Given the description of an element on the screen output the (x, y) to click on. 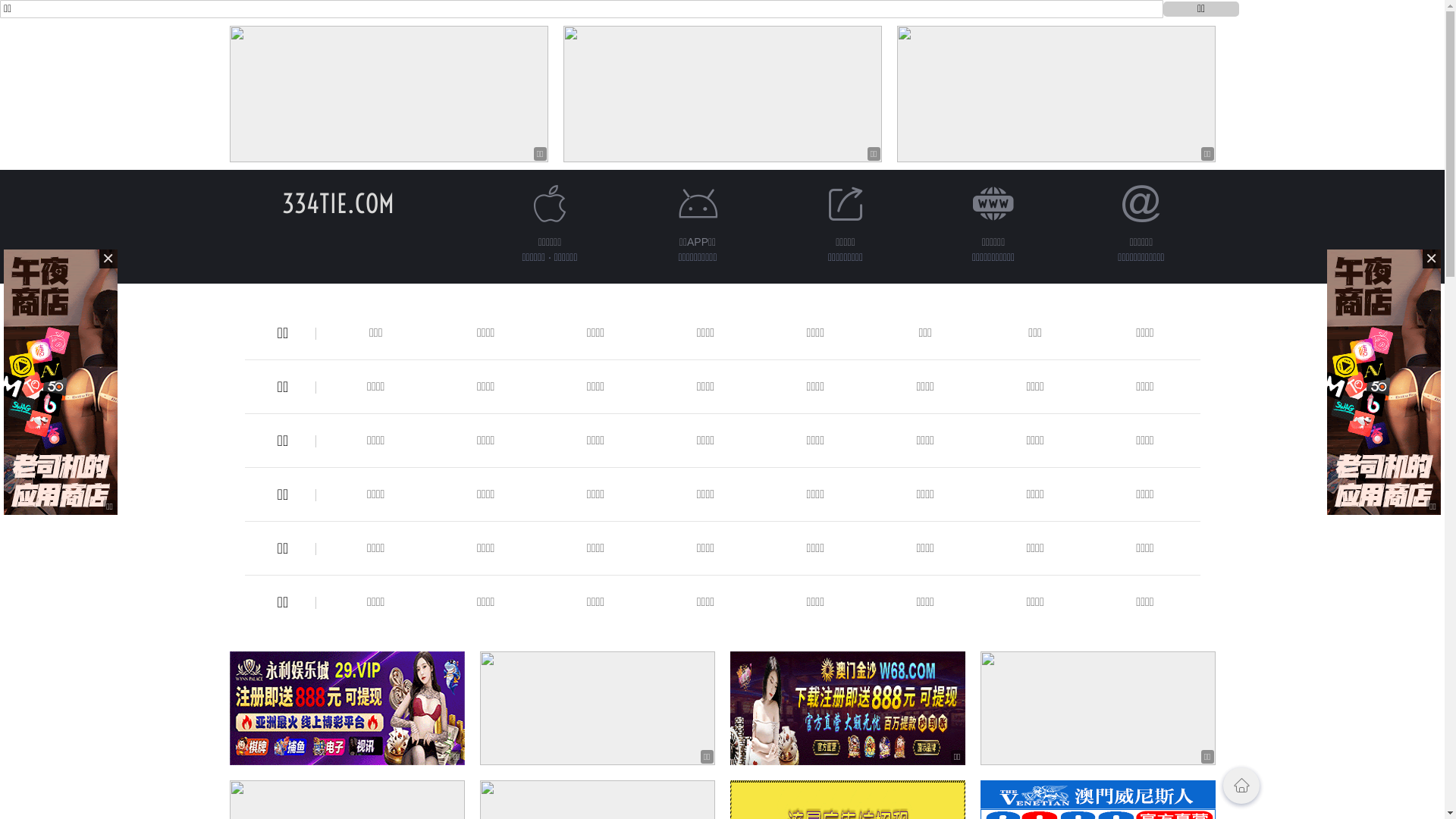
334TIE.COM Element type: text (338, 203)
